Given the description of an element on the screen output the (x, y) to click on. 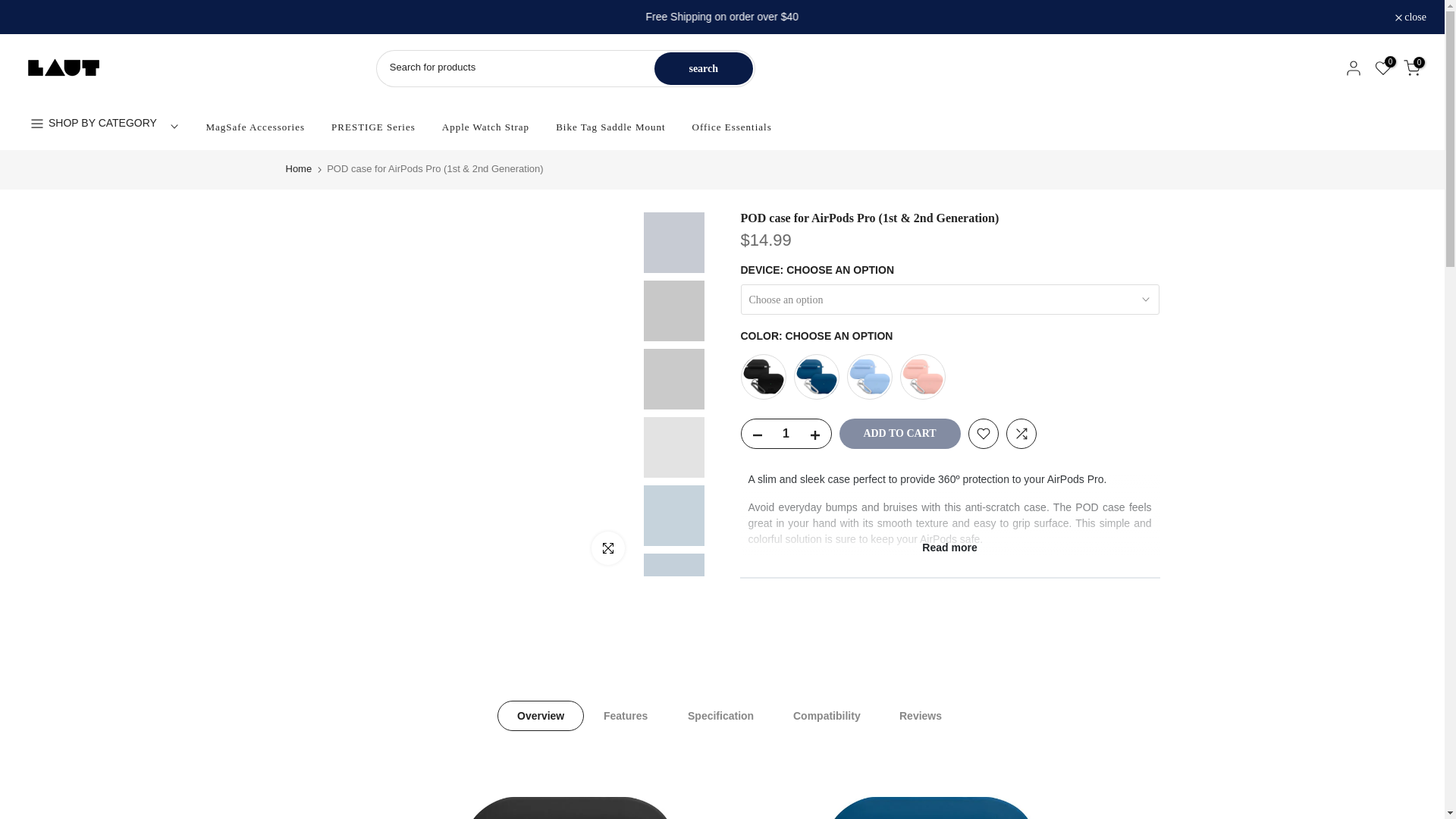
Charcoal (762, 376)
1 (786, 433)
Powder Blue (868, 376)
Skip to content (10, 7)
close (1410, 17)
Ocean Blue (815, 376)
Blush Pink (921, 376)
0 (1412, 67)
0 (1382, 67)
search (702, 67)
